Given the description of an element on the screen output the (x, y) to click on. 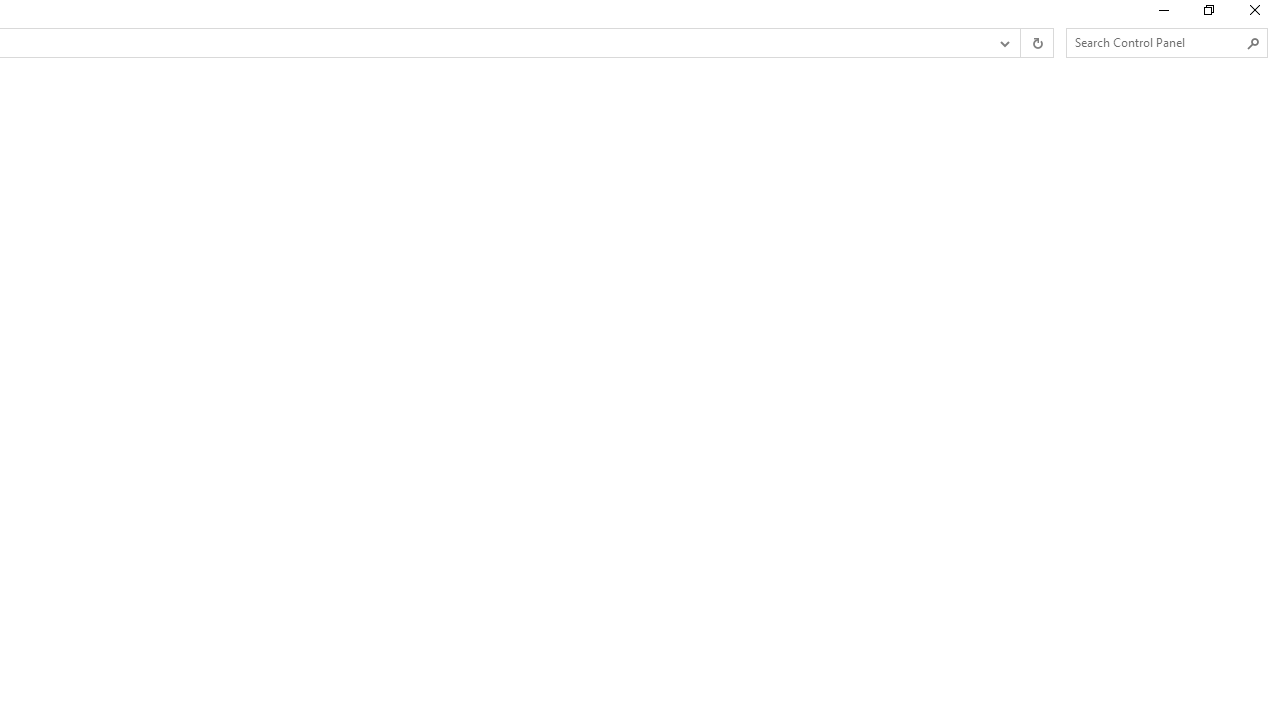
Previous Locations (1003, 43)
Refresh "Ease of Access" (F5) (1036, 43)
Minimize (1162, 14)
Address band toolbar (1019, 43)
Search (1253, 43)
Restore (1208, 14)
Search Box (1156, 42)
